Given the description of an element on the screen output the (x, y) to click on. 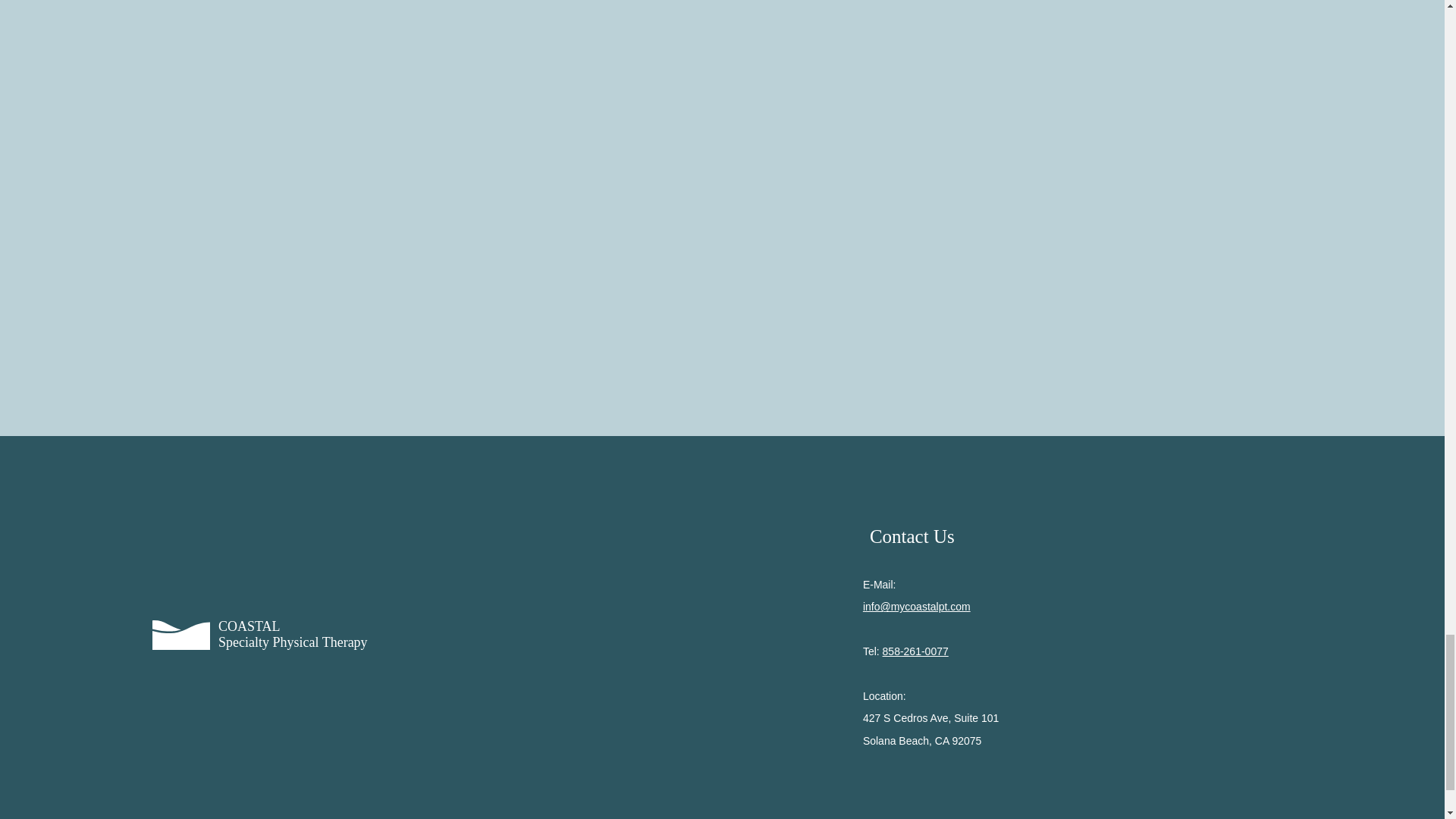
COASTAL (249, 626)
Specialty Physical Therapy (293, 642)
